Given the description of an element on the screen output the (x, y) to click on. 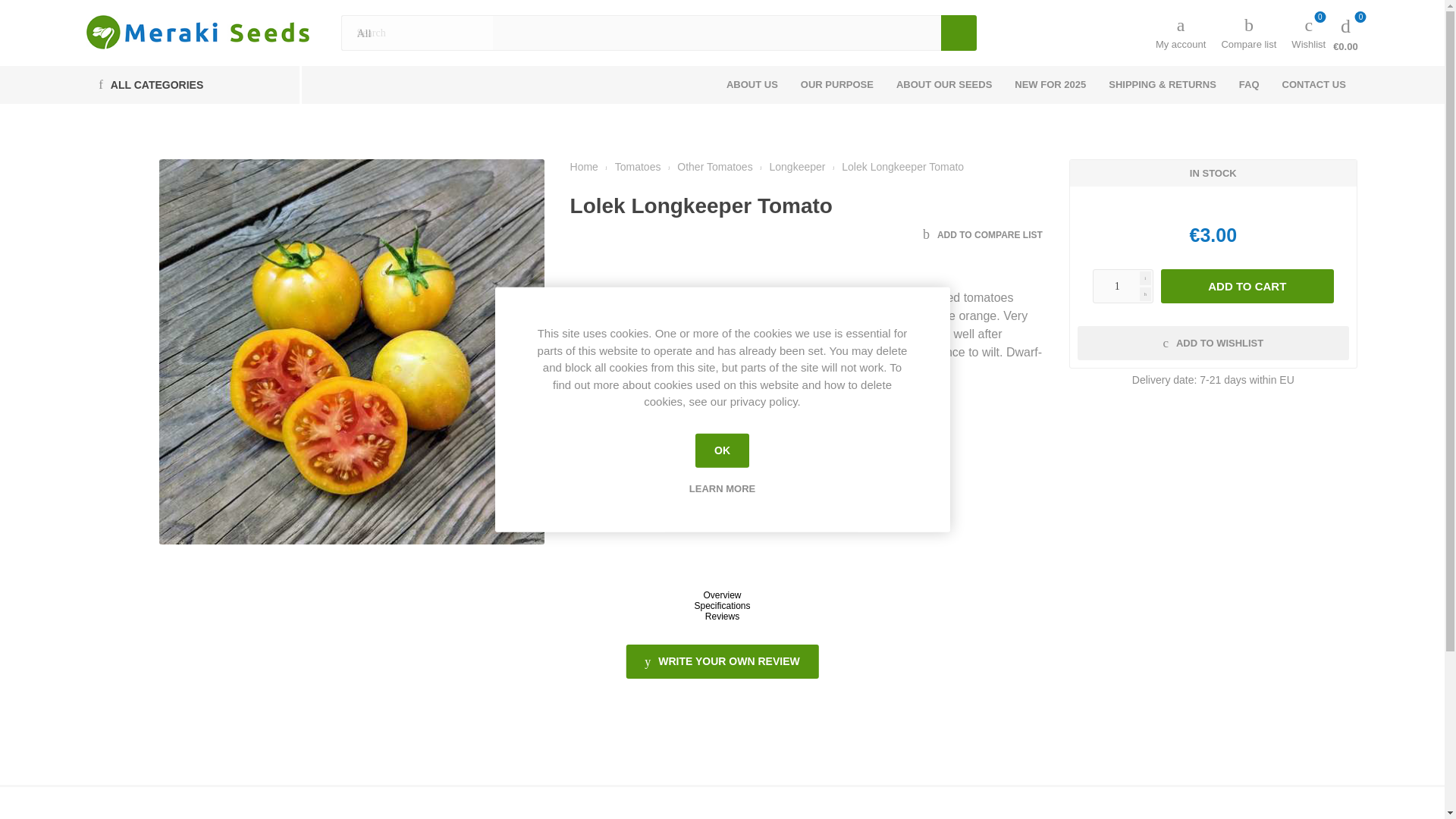
OUR PURPOSE (837, 85)
Search (958, 32)
ABOUT OUR SEEDS (944, 85)
Compare list (1248, 32)
Search (958, 32)
Search (958, 32)
New for 2025 (1050, 85)
About us (751, 85)
My account (1180, 32)
About our Seeds (944, 85)
